Given the description of an element on the screen output the (x, y) to click on. 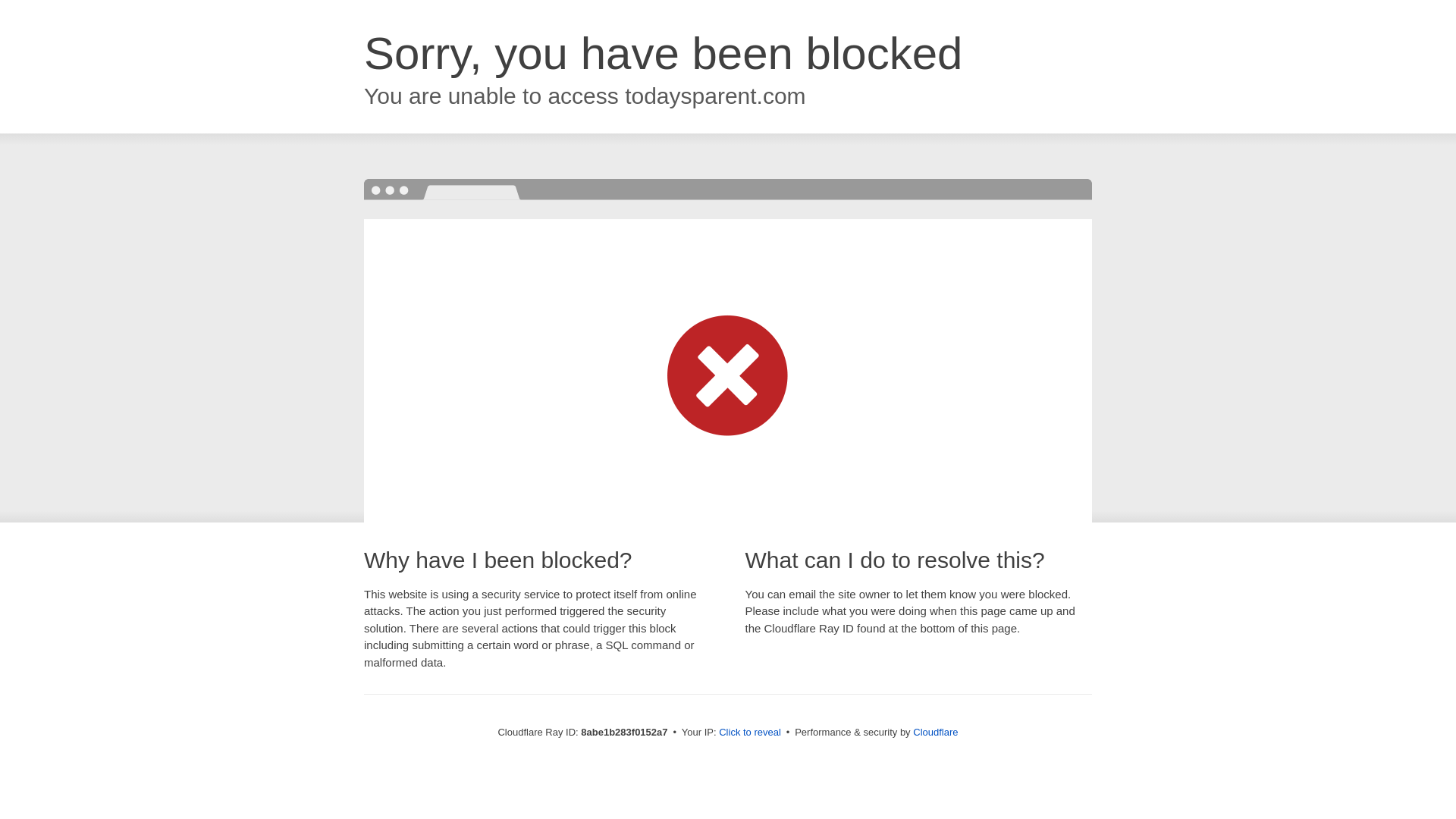
Click to reveal (749, 732)
Cloudflare (935, 731)
